Given the description of an element on the screen output the (x, y) to click on. 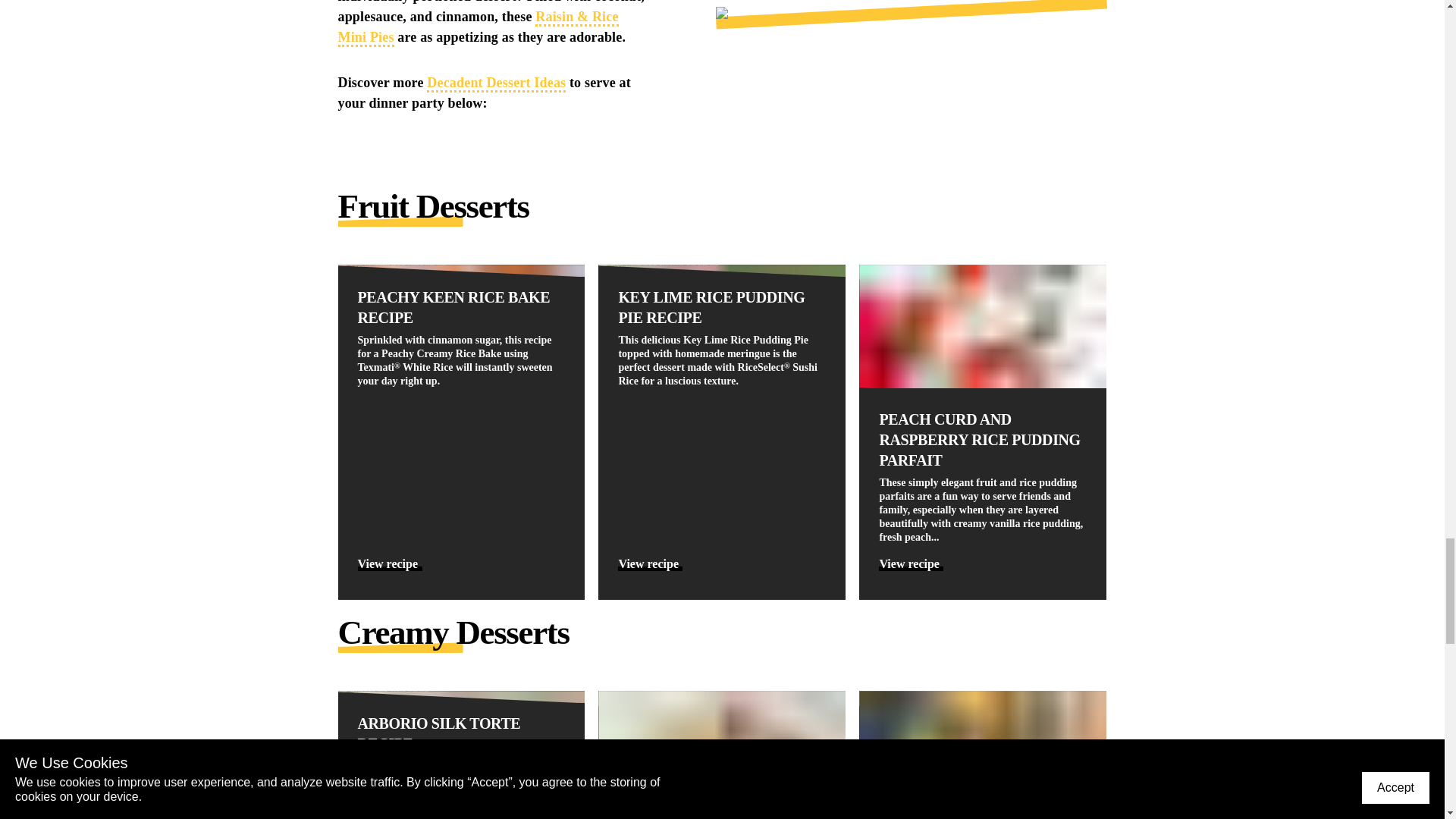
View recipe (390, 563)
Decadent Dessert Ideas (496, 83)
